Given the description of an element on the screen output the (x, y) to click on. 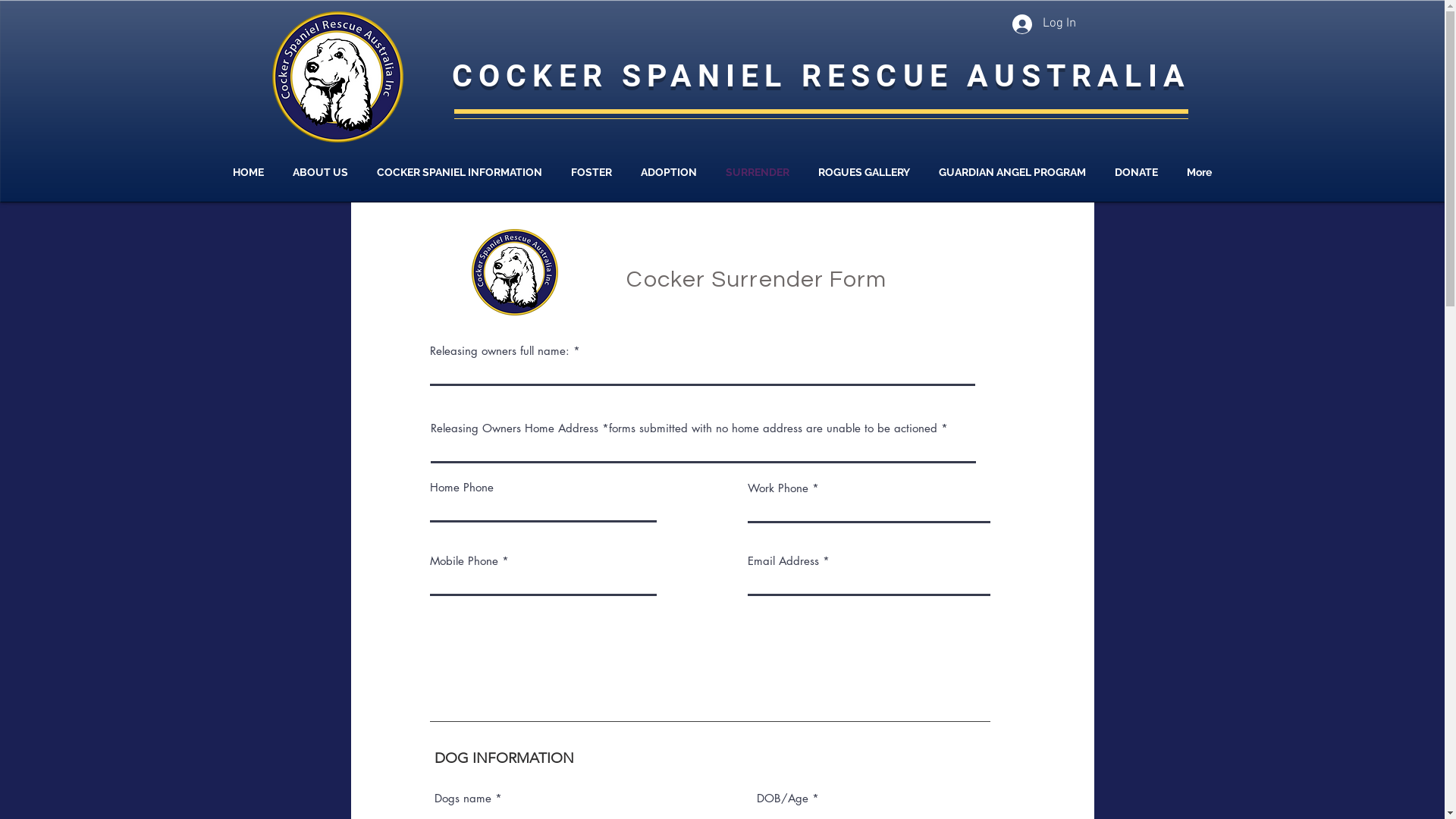
DONATE Element type: text (1136, 171)
FOSTER Element type: text (590, 171)
GUARDIAN ANGEL PROGRAM Element type: text (1012, 171)
ADOPTION Element type: text (668, 171)
Log In Element type: text (1043, 23)
COCKER SPANIEL INFORMATION Element type: text (458, 171)
SURRENDER Element type: text (757, 171)
ABOUT US Element type: text (320, 171)
HOME Element type: text (247, 171)
ROGUES GALLERY Element type: text (863, 171)
